Given the description of an element on the screen output the (x, y) to click on. 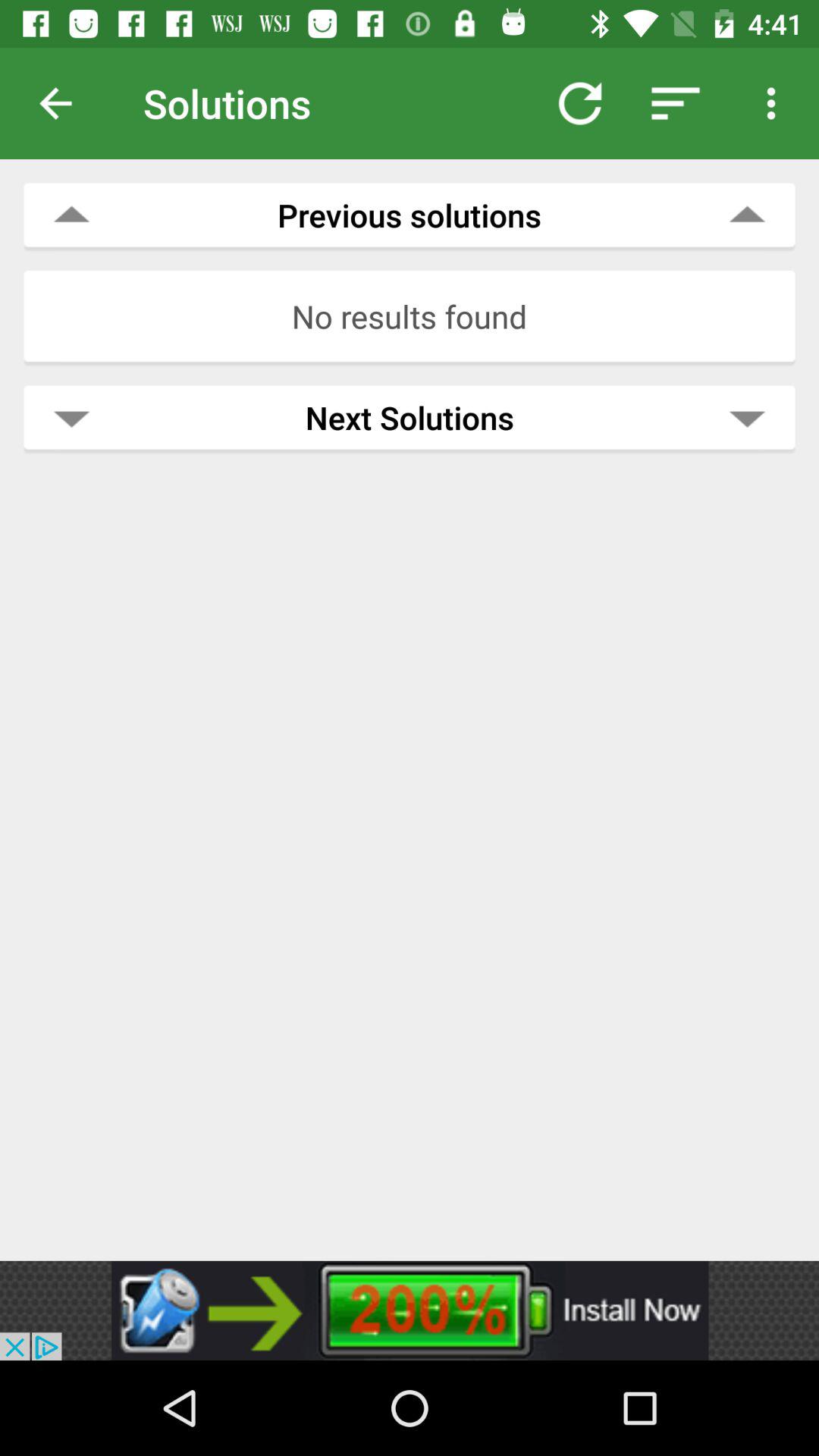
banner advertisement (409, 1310)
